Given the description of an element on the screen output the (x, y) to click on. 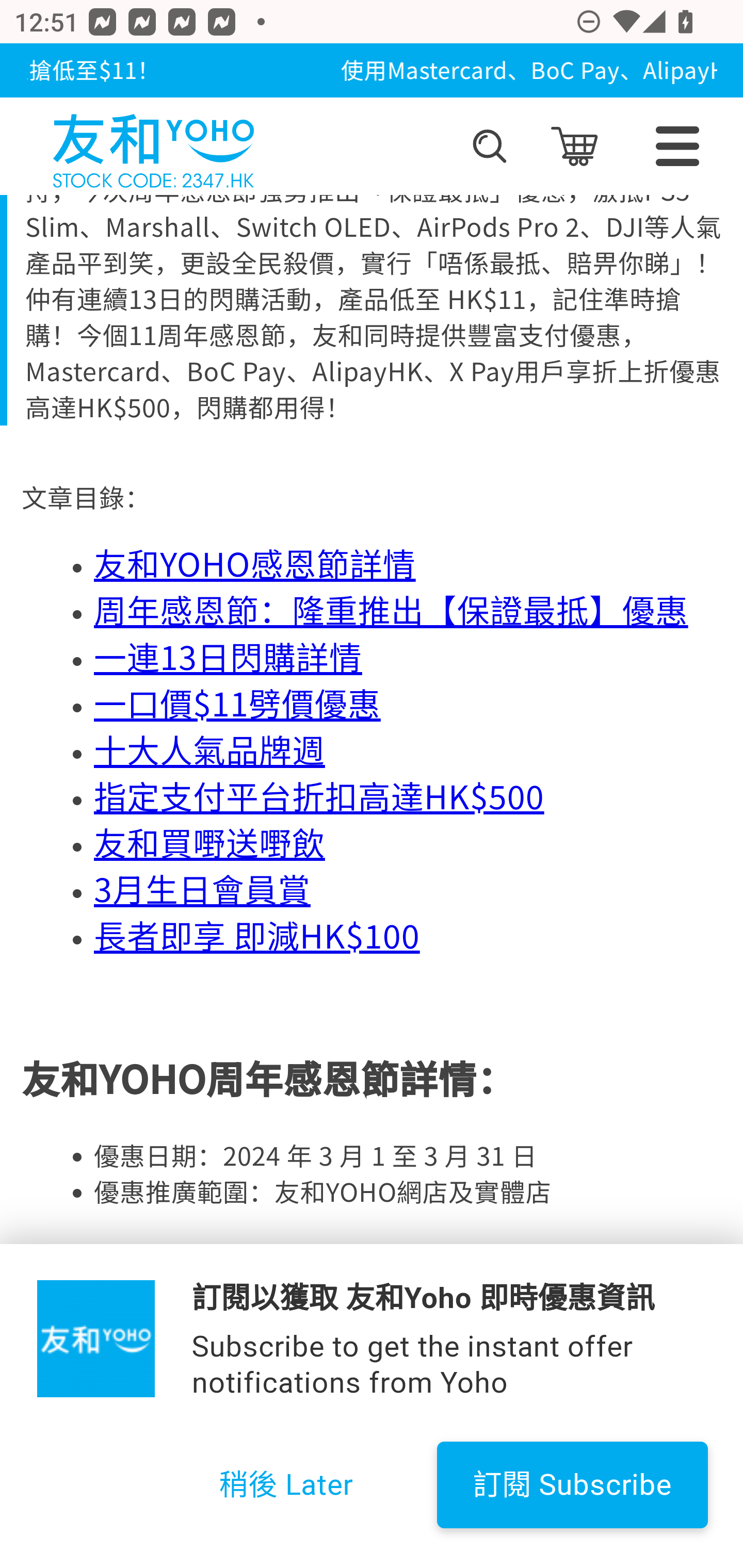
cart (574, 146)
友和 YOHO (153, 146)
友和YOHO感恩節詳情 (254, 564)
周年感恩節：隆重推出【保證最抵】優惠 (391, 610)
一連13日閃購詳情 (227, 657)
一口價$11劈價優惠 (236, 703)
十大人氣品牌週 (209, 750)
指定支付平台折扣高達HK$500 (319, 797)
友和買嘢送嘢飲 (209, 843)
3月生日會員賞 (202, 890)
長者即享 即減HK$100 (256, 936)
